Given the description of an element on the screen output the (x, y) to click on. 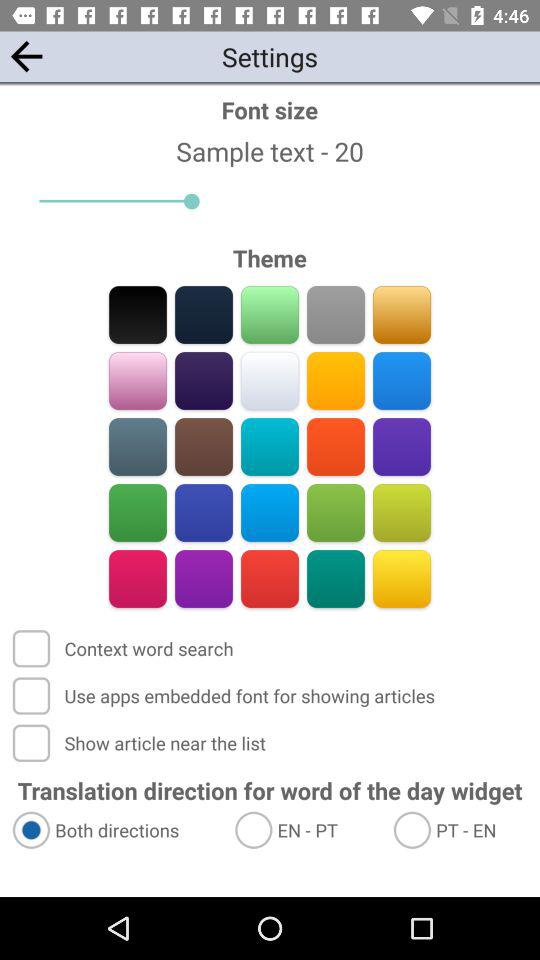
change theme color (203, 512)
